Given the description of an element on the screen output the (x, y) to click on. 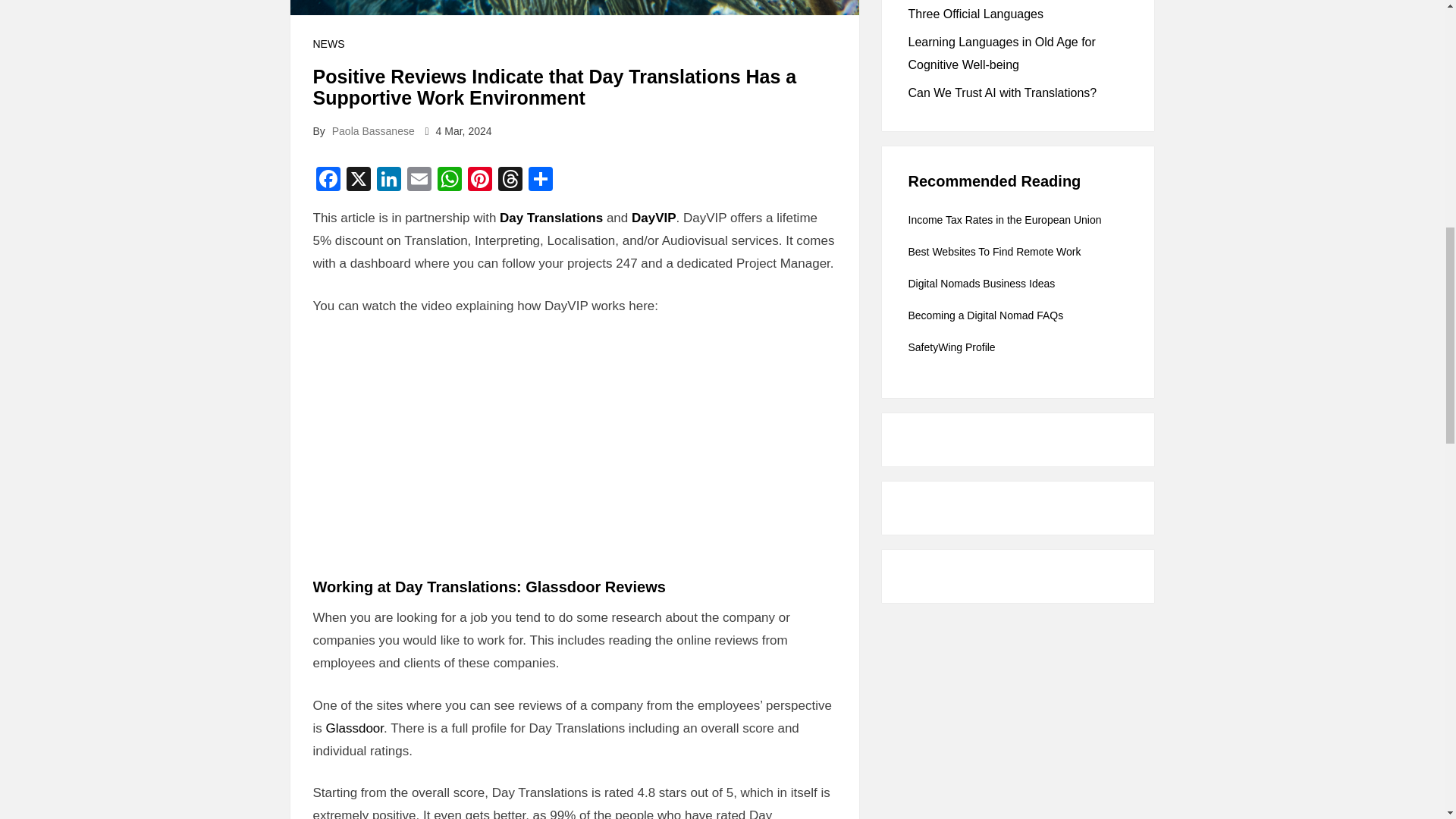
WhatsApp (448, 180)
Glassdoor (355, 727)
Day Translations (550, 217)
X (357, 180)
LinkedIn (387, 180)
NEWS (328, 43)
DayVIP (654, 217)
Pinterest (479, 180)
Threads (509, 180)
Facebook (327, 180)
